Given the description of an element on the screen output the (x, y) to click on. 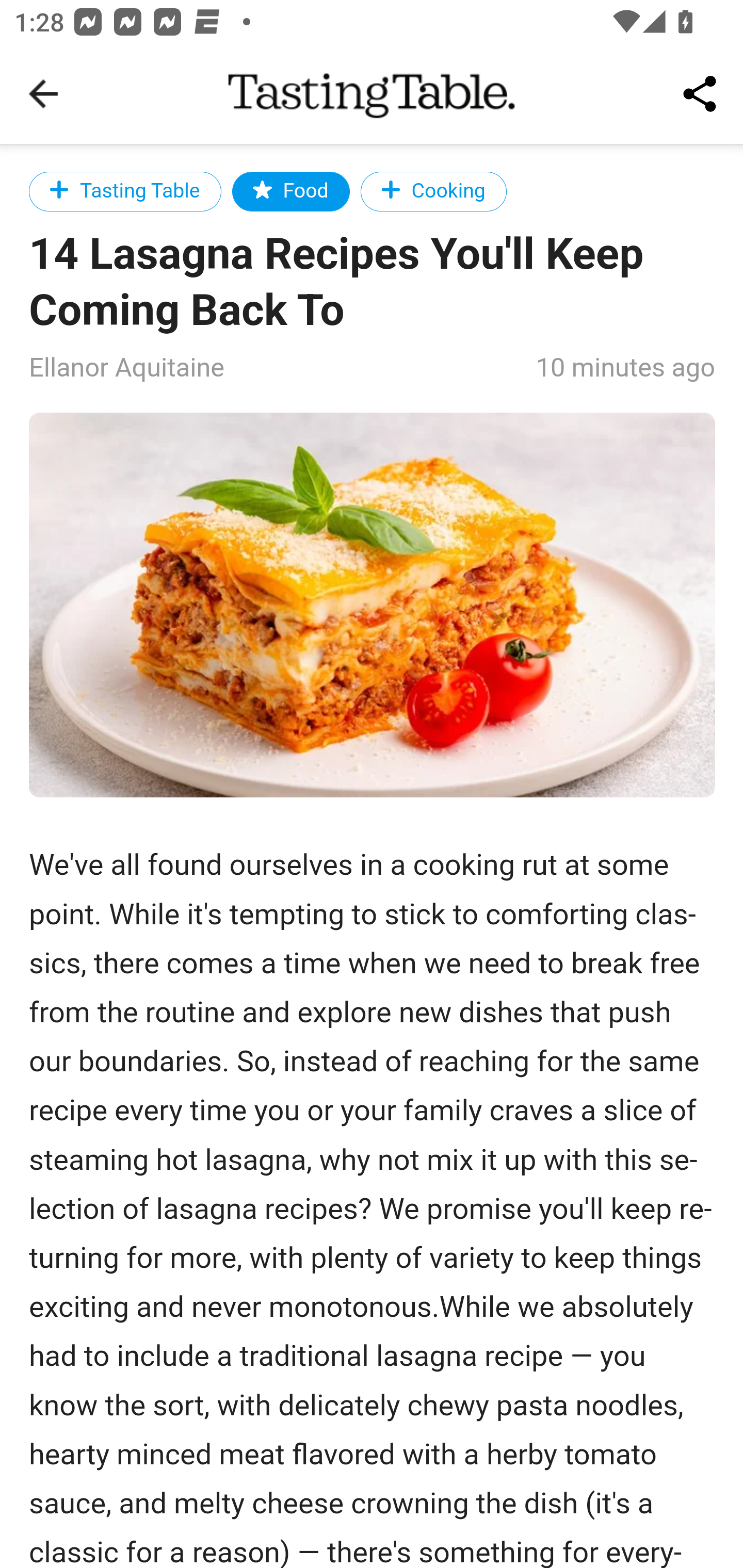
Tasting Table (125, 191)
Food (290, 191)
Cooking (432, 191)
